Given the description of an element on the screen output the (x, y) to click on. 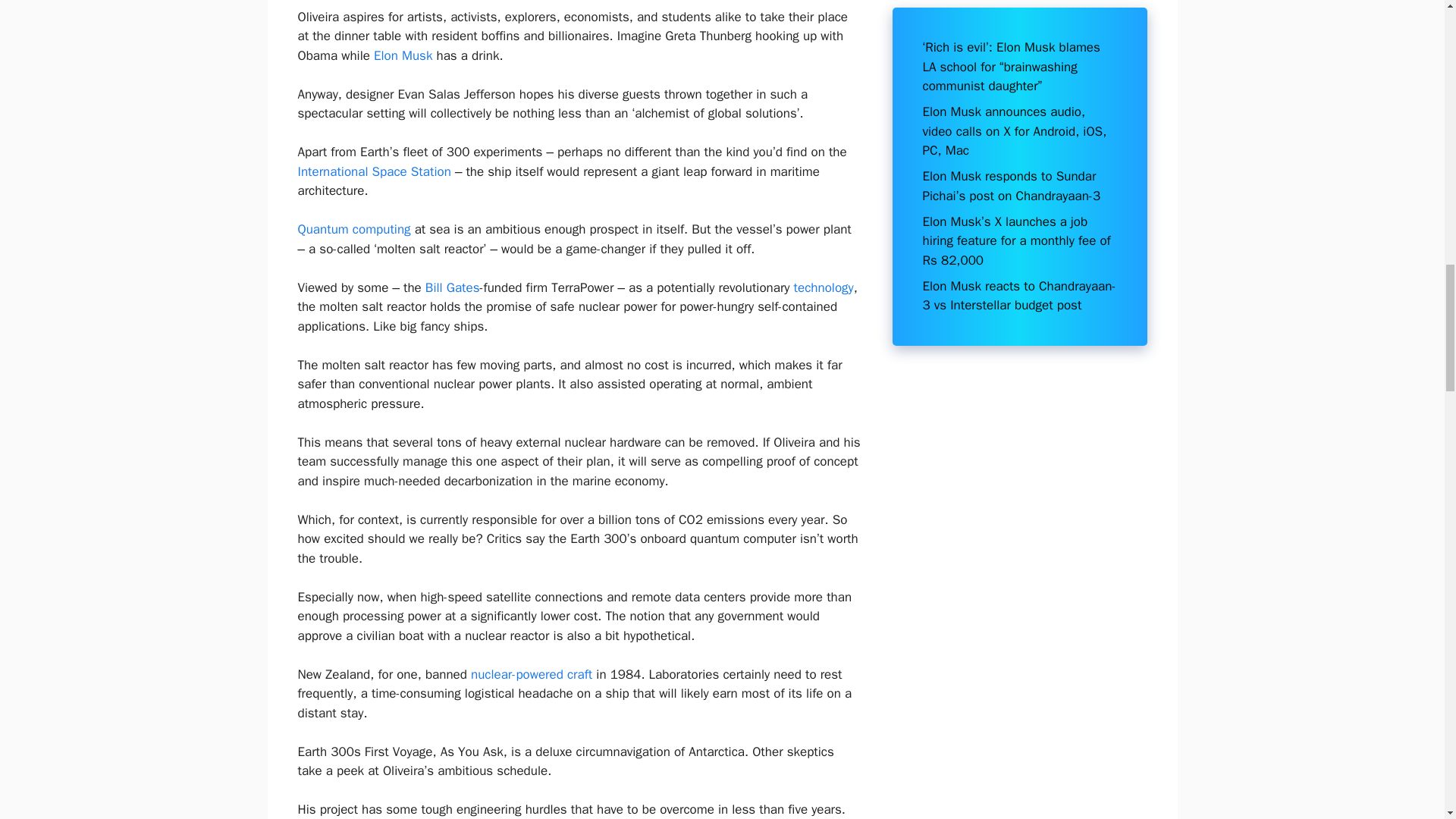
Bill Gates (452, 287)
ISS (373, 171)
nuclear-powered craft (531, 674)
Quantum computing (353, 229)
Bill Gates (452, 287)
technology (823, 287)
Technology (823, 287)
International Space Station (373, 171)
Elon Musk (403, 55)
